Given the description of an element on the screen output the (x, y) to click on. 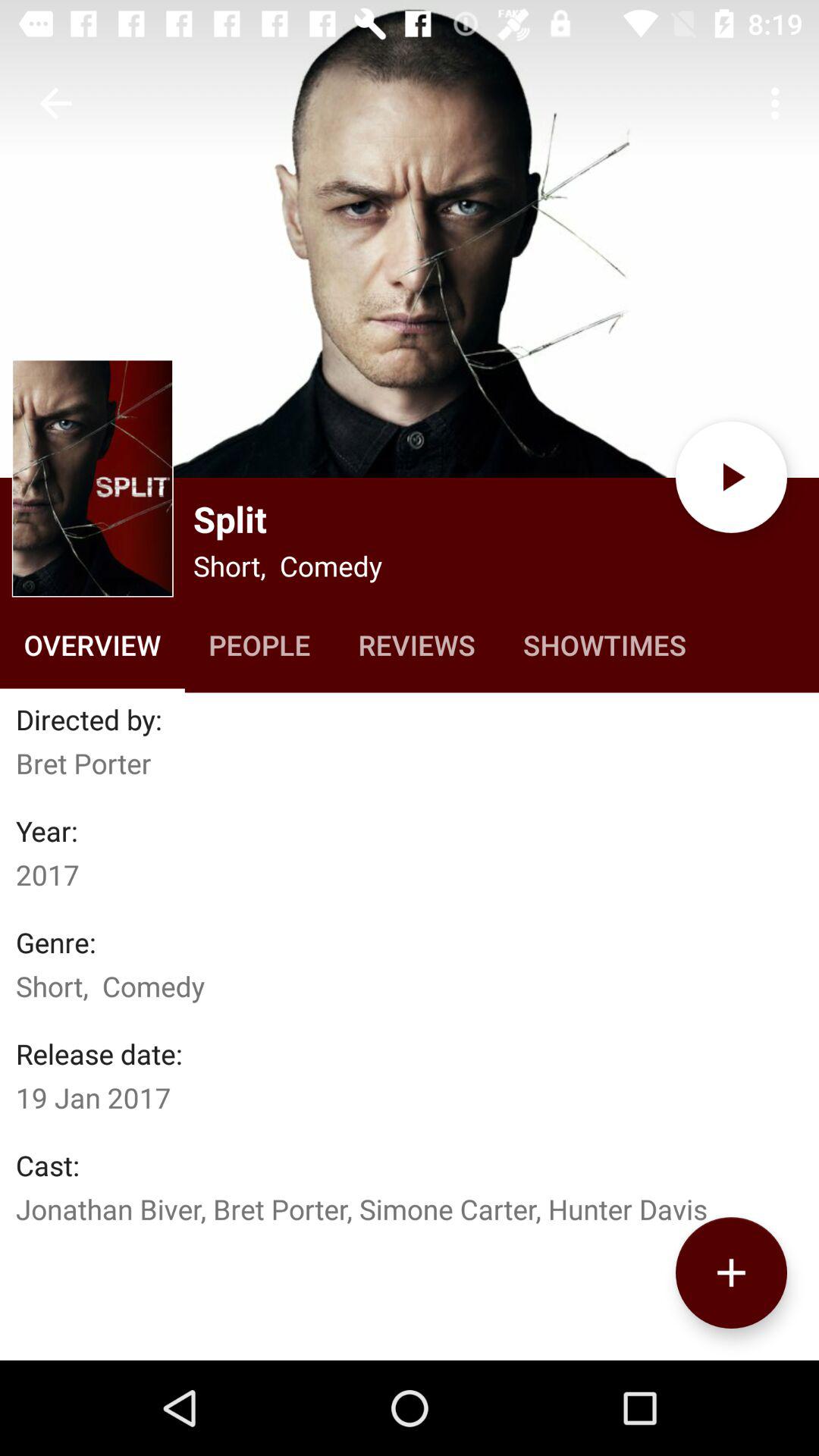
add a archive (731, 1272)
